Given the description of an element on the screen output the (x, y) to click on. 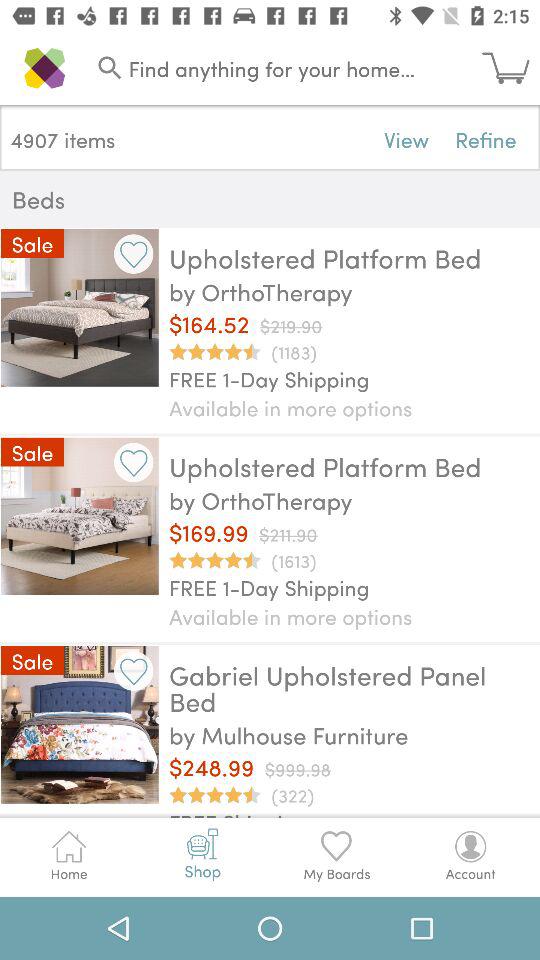
open icon next to the find anything for icon (511, 68)
